Given the description of an element on the screen output the (x, y) to click on. 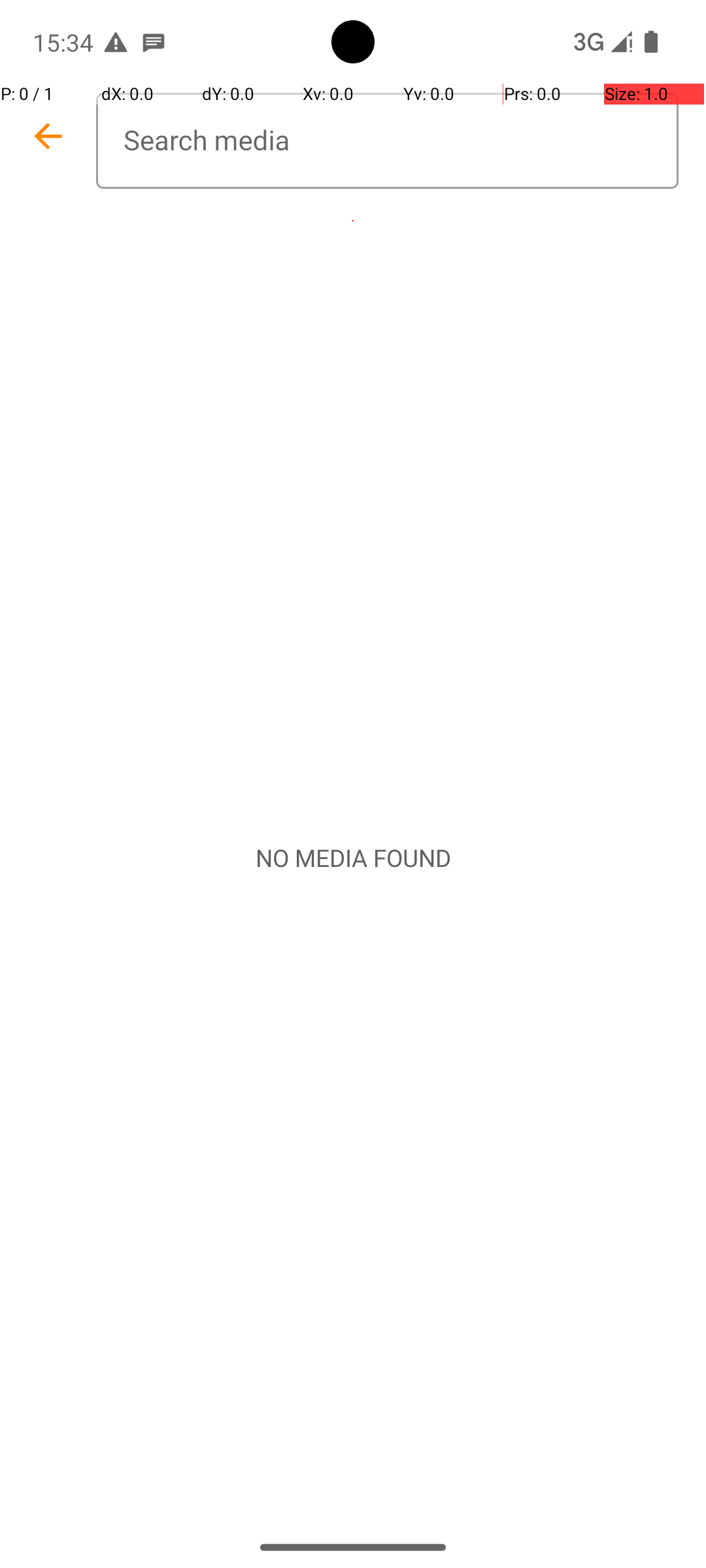
Search media Element type: android.widget.EditText (387, 140)
NO MEDIA FOUND Element type: android.widget.TextView (353, 857)
